Given the description of an element on the screen output the (x, y) to click on. 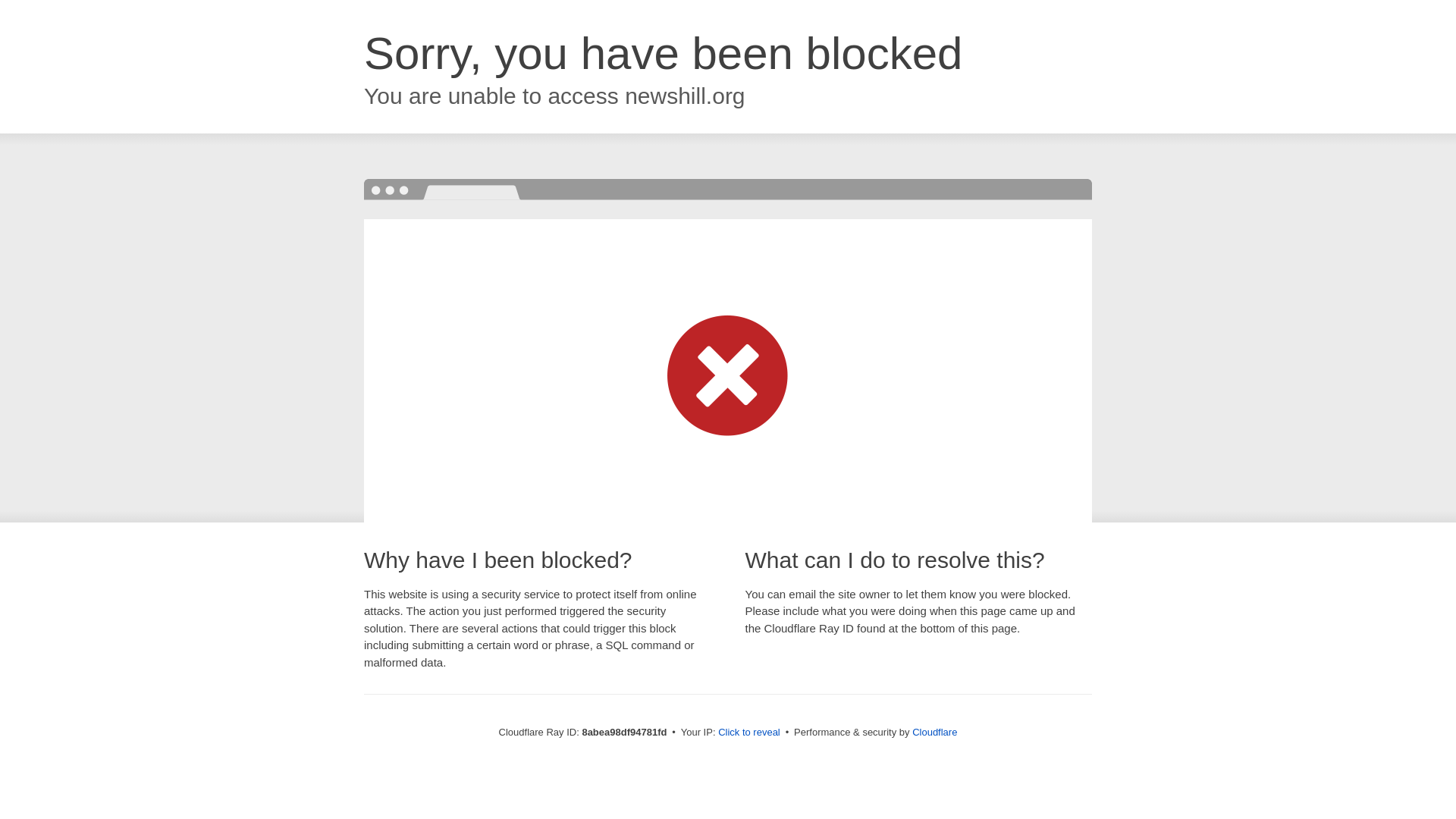
Cloudflare (934, 731)
Click to reveal (748, 732)
